Given the description of an element on the screen output the (x, y) to click on. 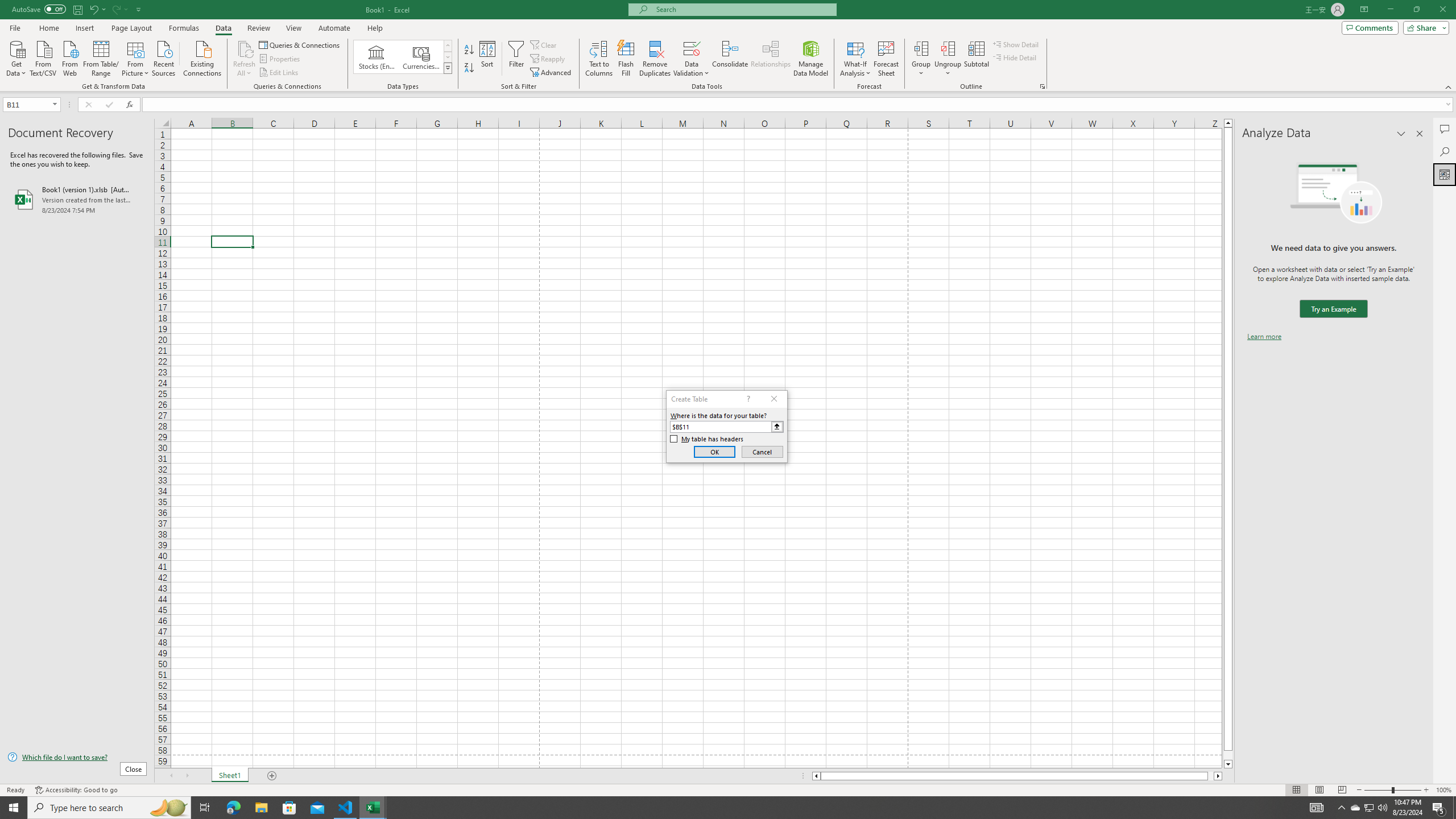
Collapse the Ribbon (1448, 86)
Ungroup... (947, 58)
Quick Access Toolbar (77, 9)
Undo (92, 9)
Which file do I want to save? (77, 757)
Sort Z to A (469, 67)
Data Validation... (691, 48)
Class: NetUIScrollBar (1016, 775)
Currencies (English) (420, 56)
Sheet1 (229, 775)
More Options (947, 68)
What-If Analysis (855, 58)
Recent Sources (163, 57)
Scroll Right (187, 775)
Zoom (1392, 790)
